Given the description of an element on the screen output the (x, y) to click on. 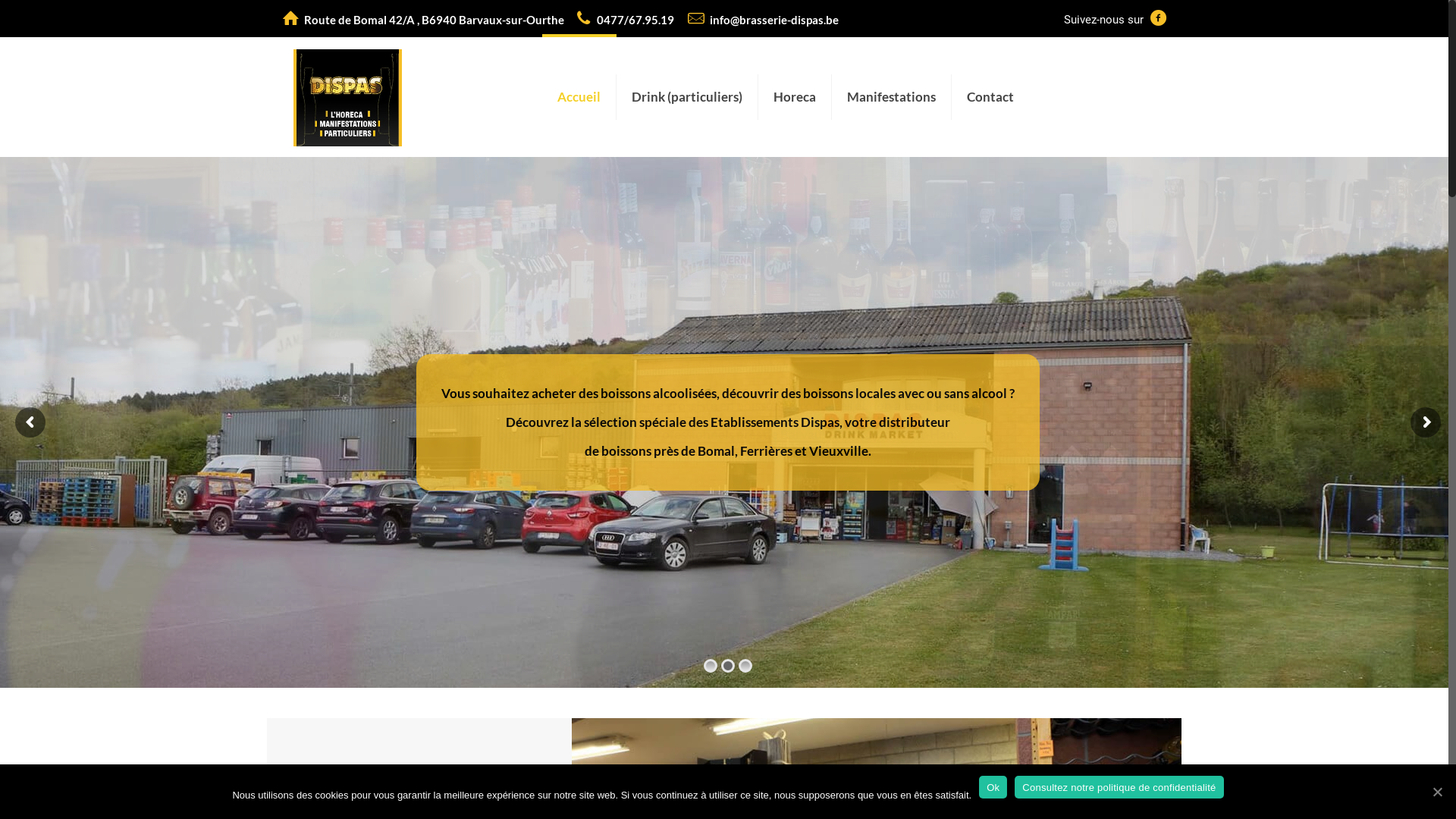
Accueil Element type: text (579, 96)
info@brasserie-dispas.be Element type: text (773, 19)
0477/67.95.19 Element type: text (635, 19)
Horeca Element type: text (794, 96)
Ok Element type: text (993, 786)
Contact Element type: text (990, 96)
Drink (particuliers) Element type: text (687, 96)
Manifestations Element type: text (891, 96)
ETABLISSEMENTS DISPAS Element type: hover (347, 96)
